Given the description of an element on the screen output the (x, y) to click on. 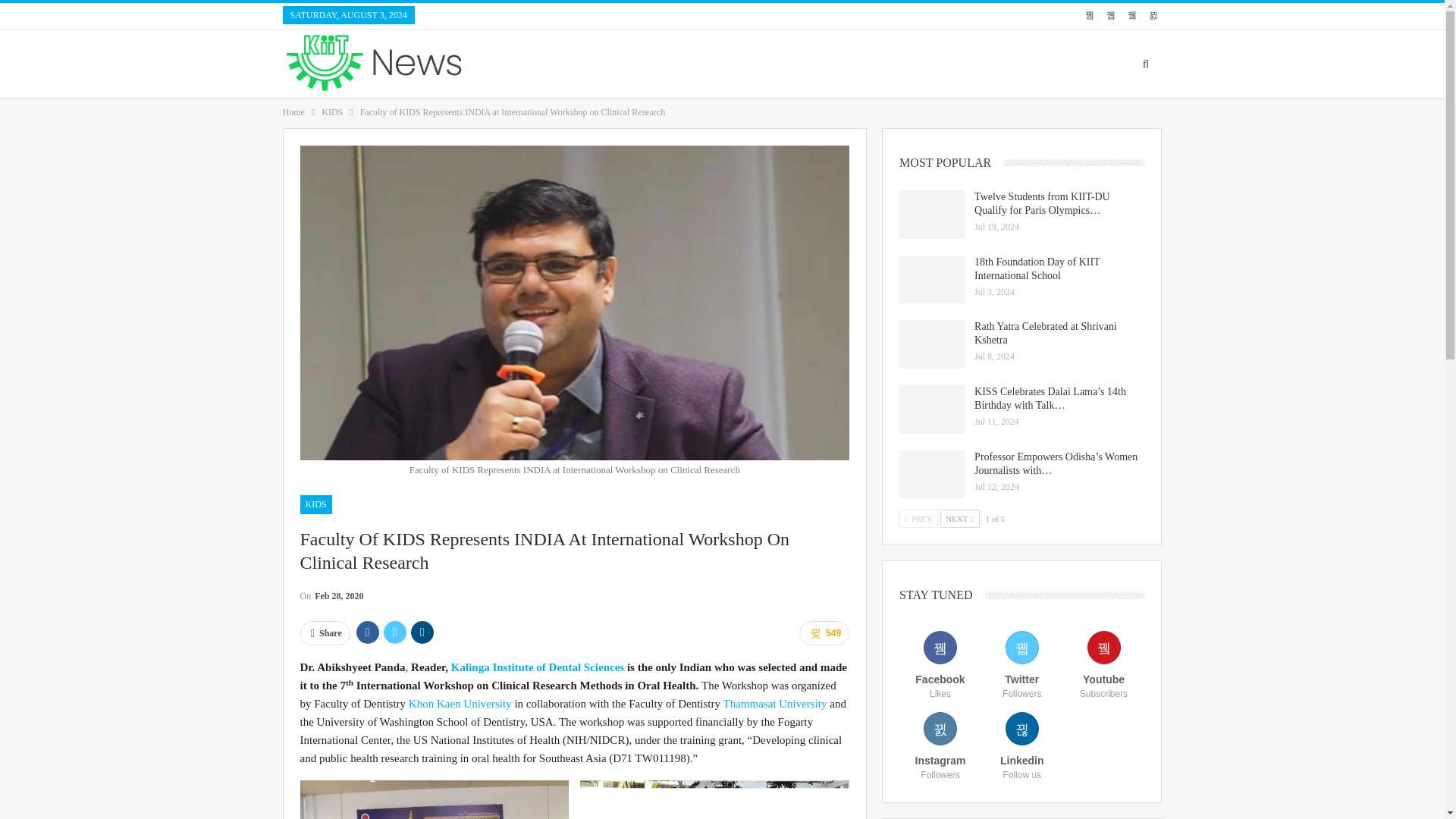
Khon Kaen University (460, 409)
18th Foundation Day of KIIT International School (931, 279)
Thammasat University (774, 409)
KIIT REVIEW (1087, 63)
Kalinga Institute of Dental Sciences (537, 372)
Home (293, 112)
KIIT HOME (888, 63)
KIDS (331, 112)
Rath Yatra Celebrated at Shrivani Kshetra (931, 344)
News Archives (511, 15)
